Given the description of an element on the screen output the (x, y) to click on. 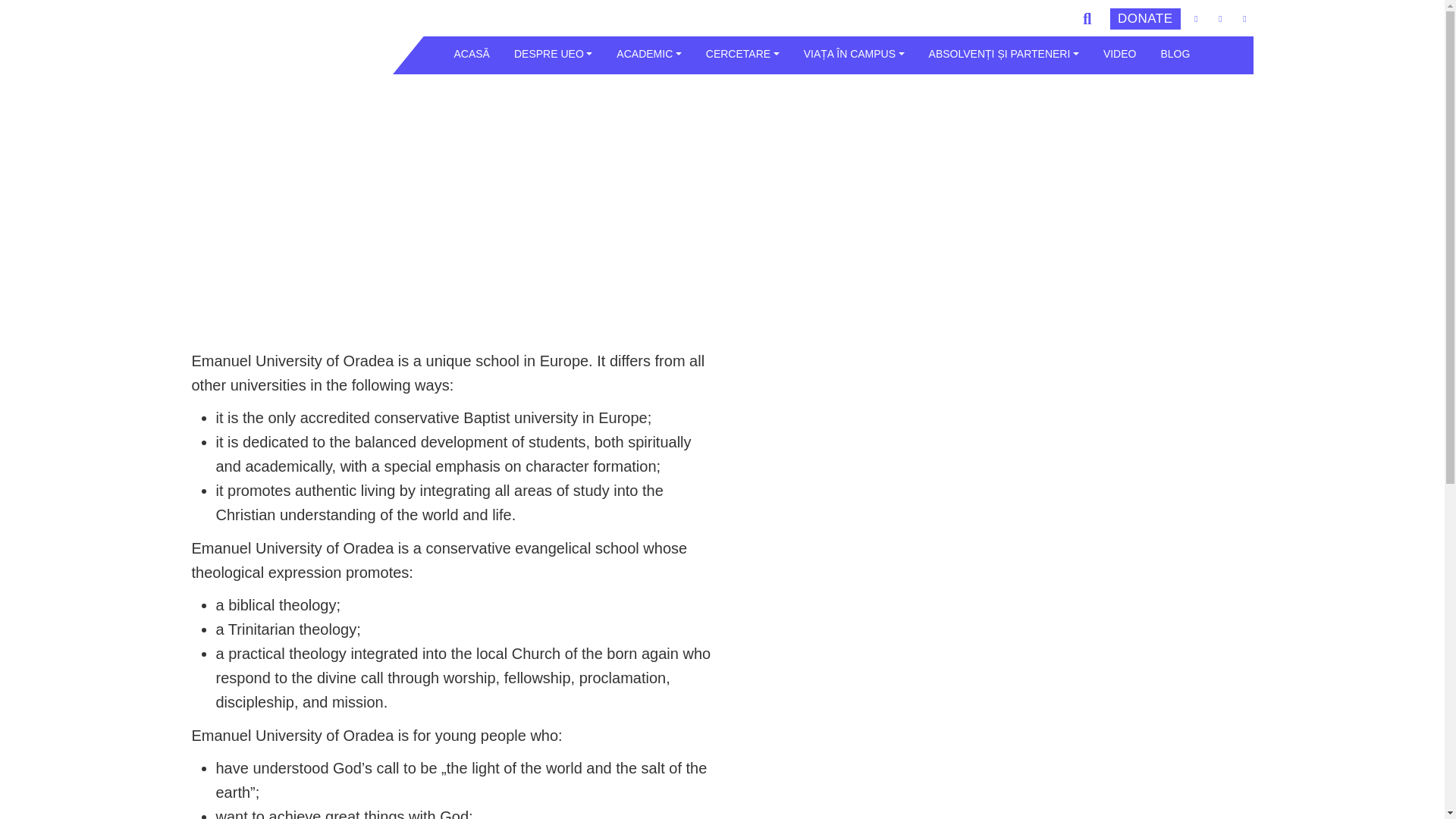
DONATE (1144, 18)
DESPRE UEO (552, 53)
ACADEMIC (648, 53)
